Given the description of an element on the screen output the (x, y) to click on. 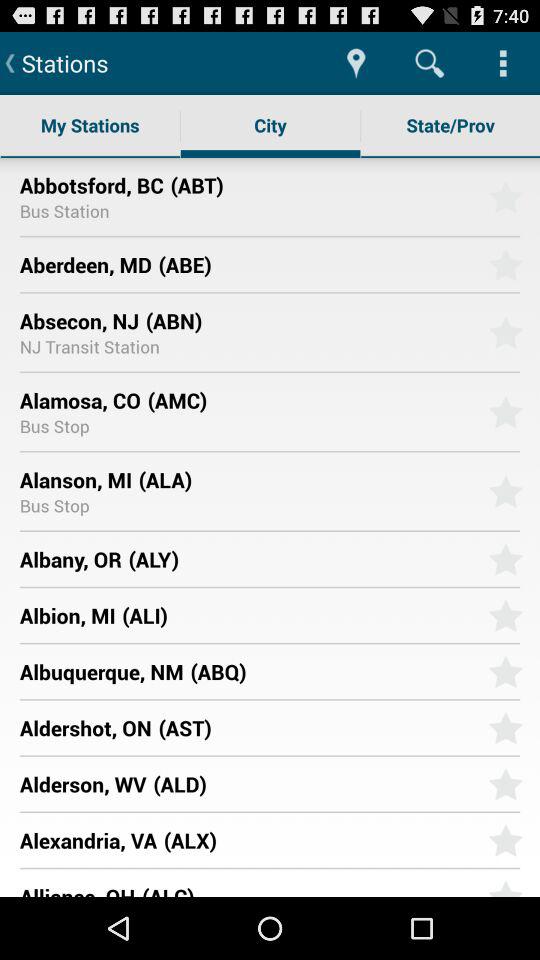
launch item next to the (ast) item (85, 727)
